Given the description of an element on the screen output the (x, y) to click on. 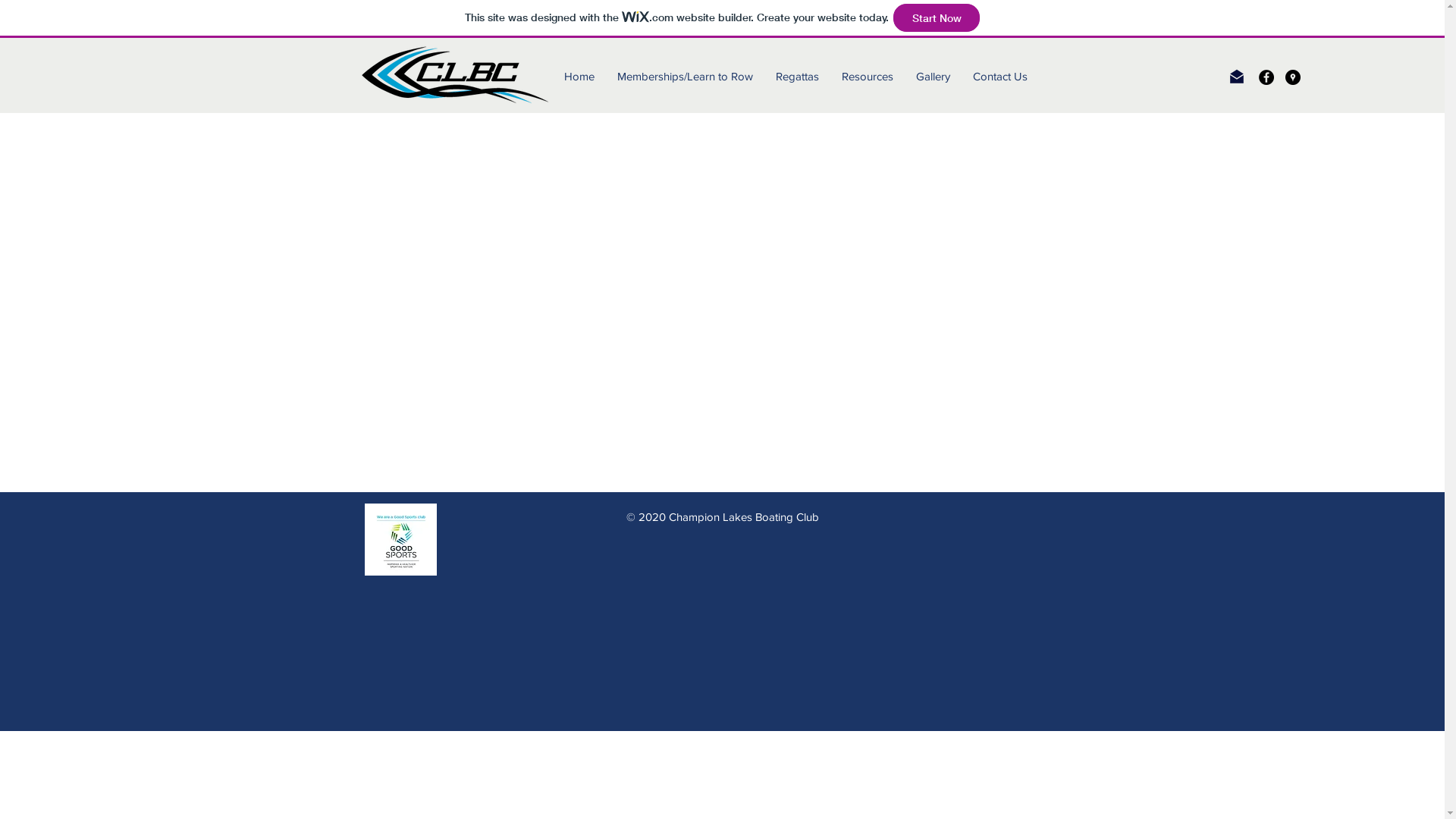
Memberships/Learn to Row Element type: text (684, 76)
Home Element type: text (578, 76)
Regattas Element type: text (797, 76)
Gallery Element type: text (932, 76)
Resources Element type: text (867, 76)
Contact Us Element type: text (999, 76)
